Given the description of an element on the screen output the (x, y) to click on. 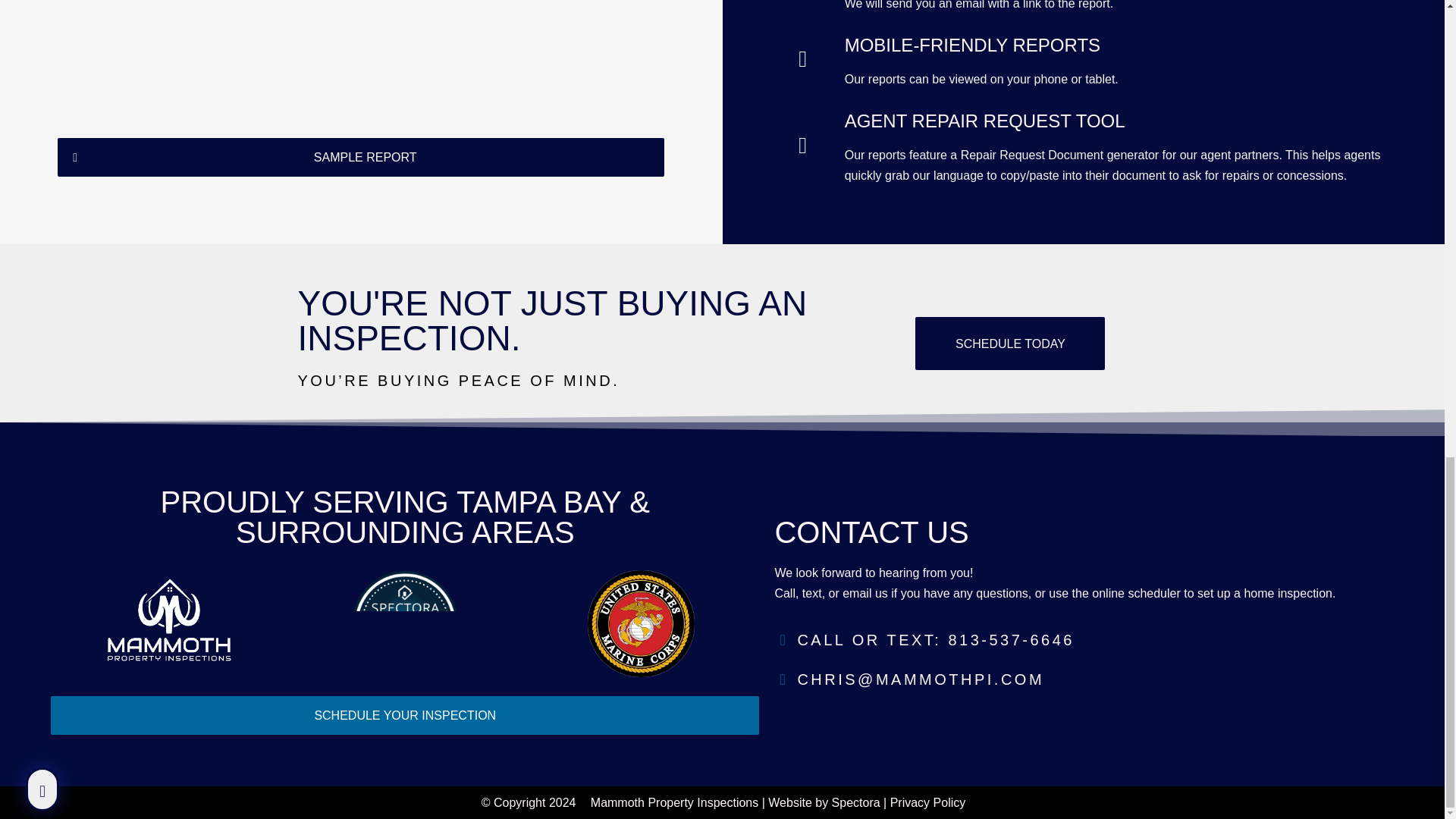
CALL OR TEXT: 813-537-6646 (1082, 639)
SCHEDULE TODAY (1010, 343)
SAMPLE REPORT (360, 157)
SCHEDULE YOUR INSPECTION (404, 715)
